Given the description of an element on the screen output the (x, y) to click on. 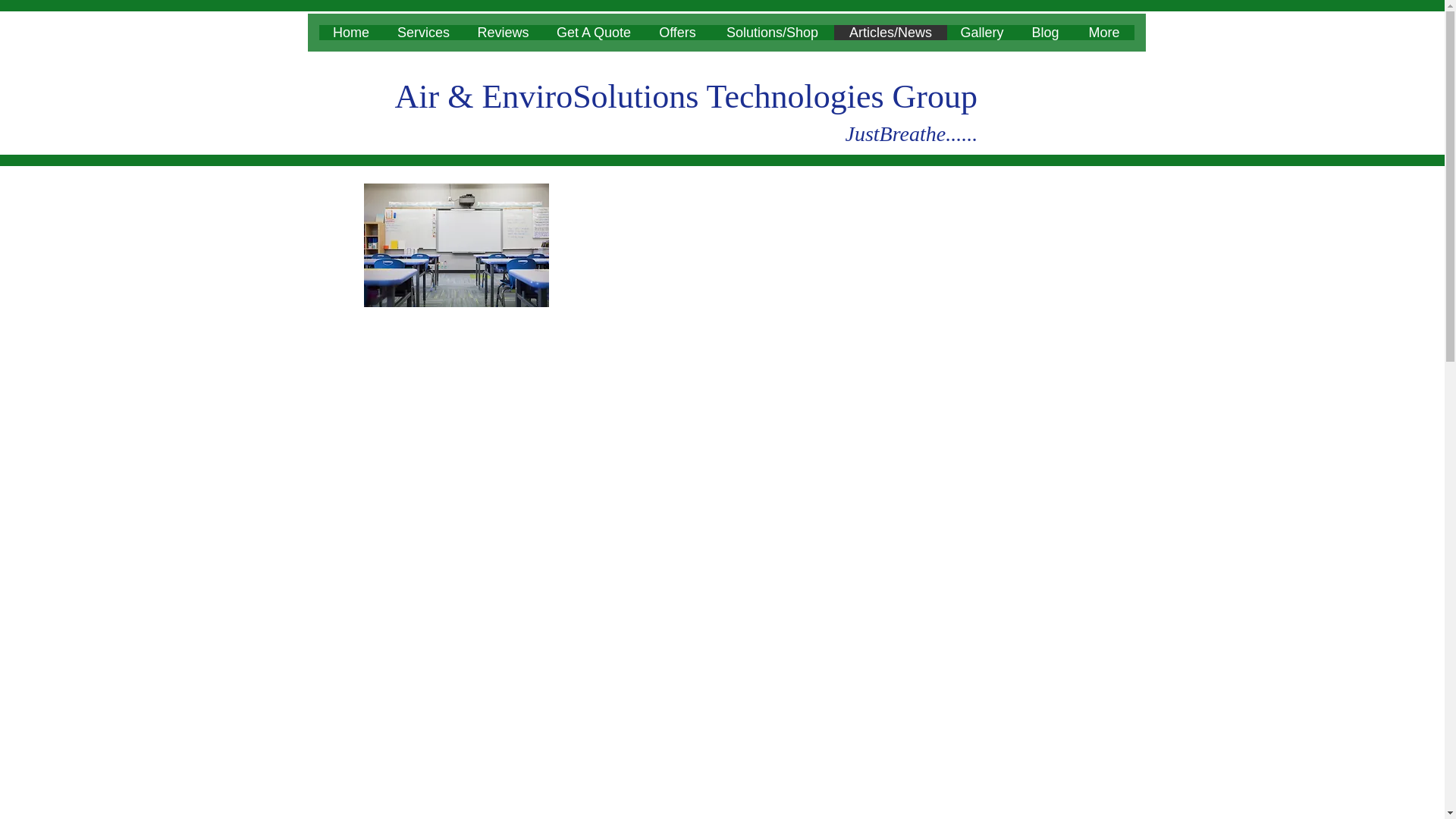
Get A Quote (594, 32)
Gallery (981, 32)
Blog (1044, 32)
Home (350, 32)
Offers (677, 32)
Reviews (502, 32)
Services (423, 32)
